Given the description of an element on the screen output the (x, y) to click on. 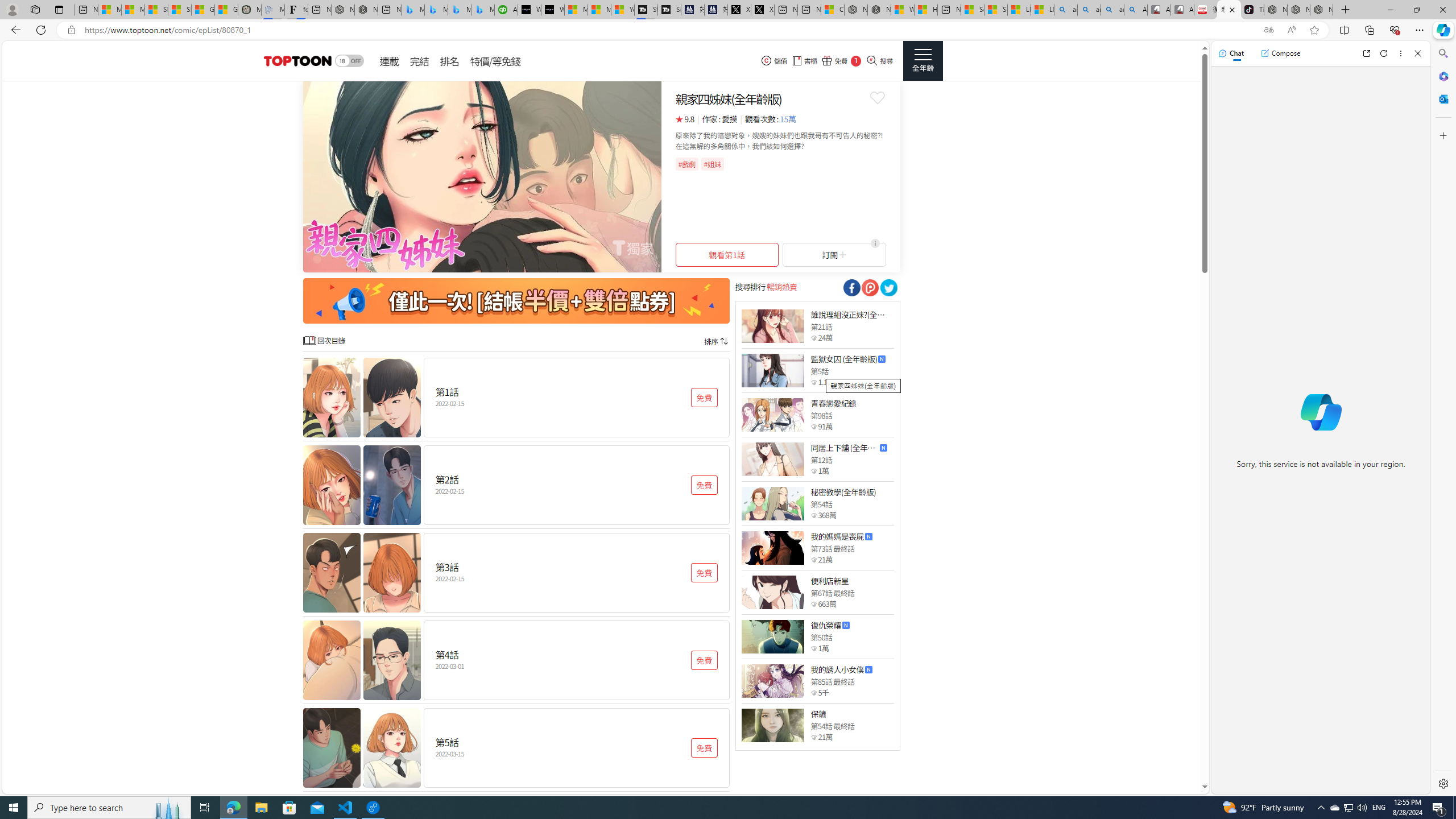
Microsoft 365 (1442, 76)
